Given the description of an element on the screen output the (x, y) to click on. 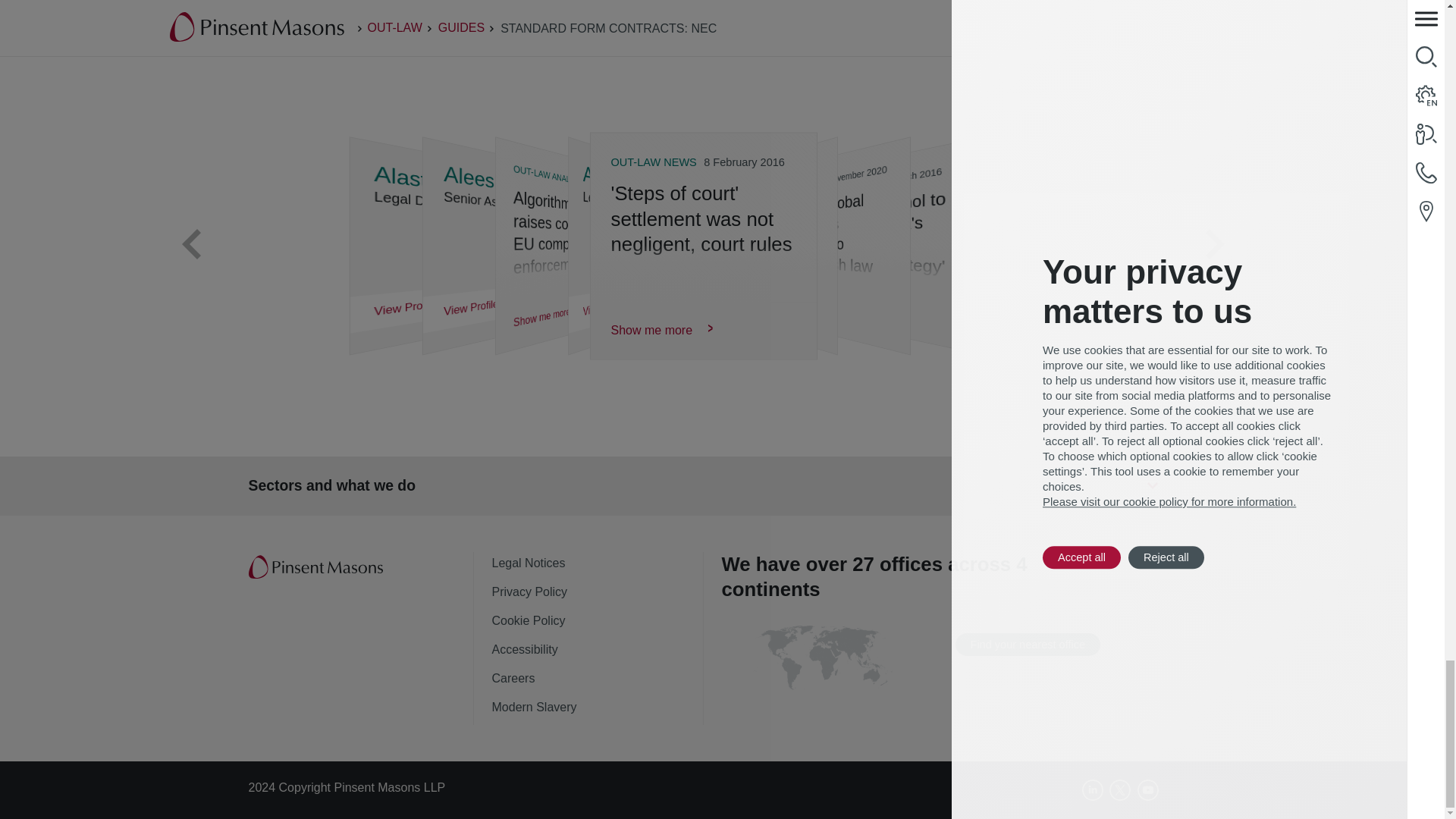
Pinsent Masons LinkedIn (1092, 789)
Pinsent Masons (316, 567)
Pinsent Masons Twitter (1120, 789)
